Given the description of an element on the screen output the (x, y) to click on. 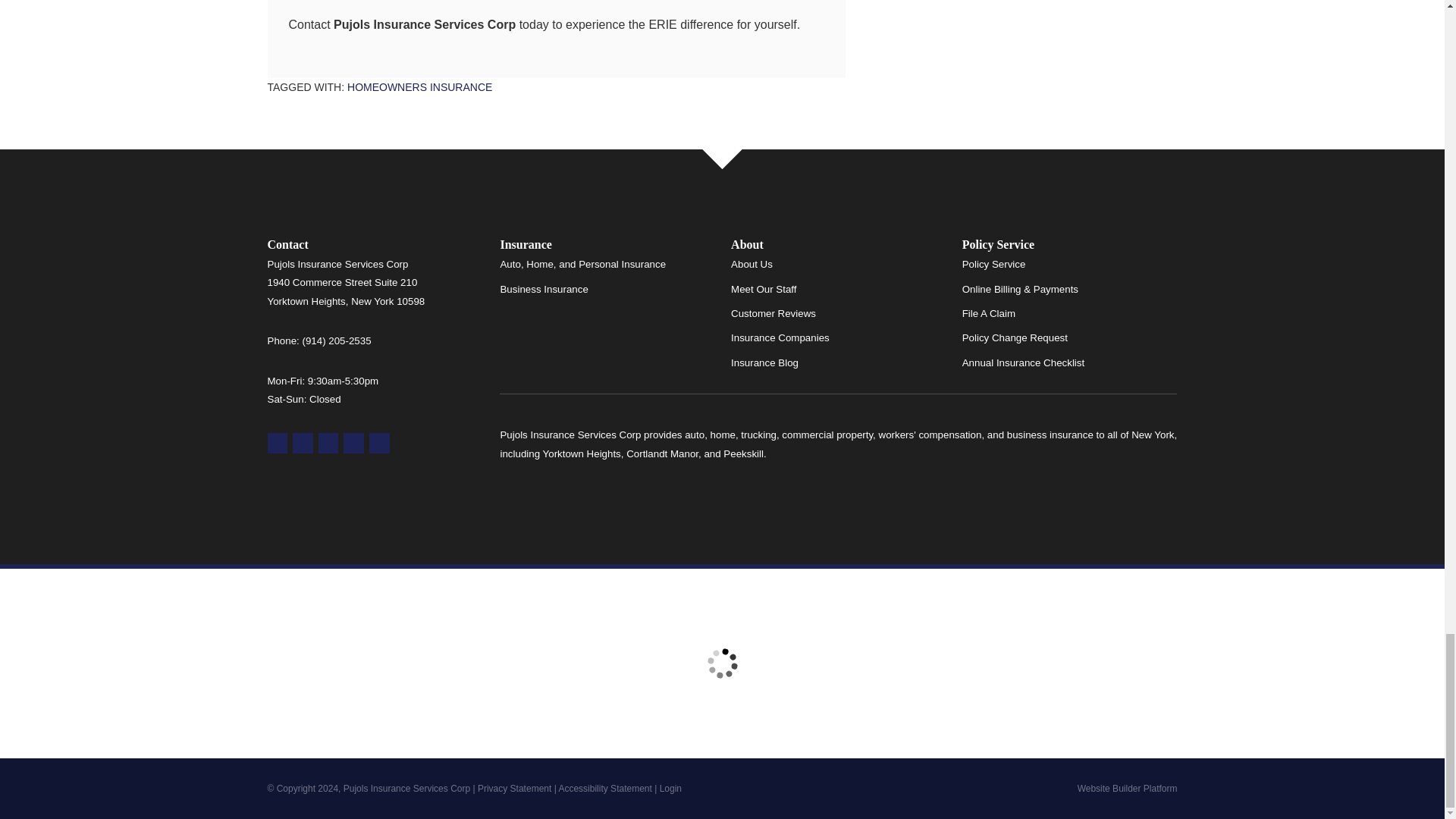
Homeowners Insurance (419, 87)
Facebook (328, 443)
Google Maps (276, 443)
Yelp (302, 443)
LinkedIn (353, 443)
Instagram (379, 443)
